Given the description of an element on the screen output the (x, y) to click on. 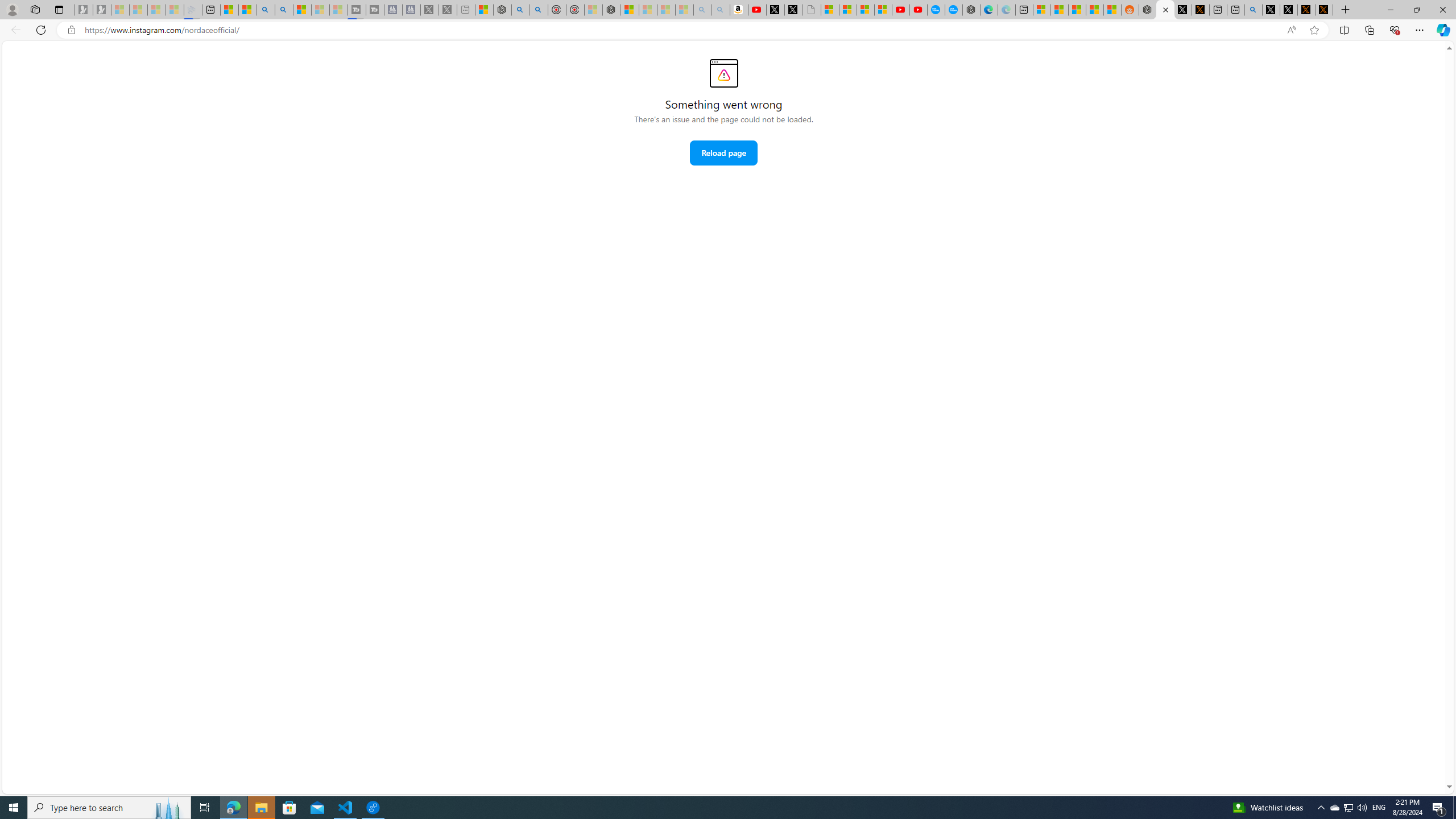
The most popular Google 'how to' searches (953, 9)
YouTube Kids - An App Created for Kids to Explore Content (917, 9)
amazon - Search - Sleeping (702, 9)
X Privacy Policy (1324, 9)
help.x.com | 524: A timeout occurred (1200, 9)
